Given the description of an element on the screen output the (x, y) to click on. 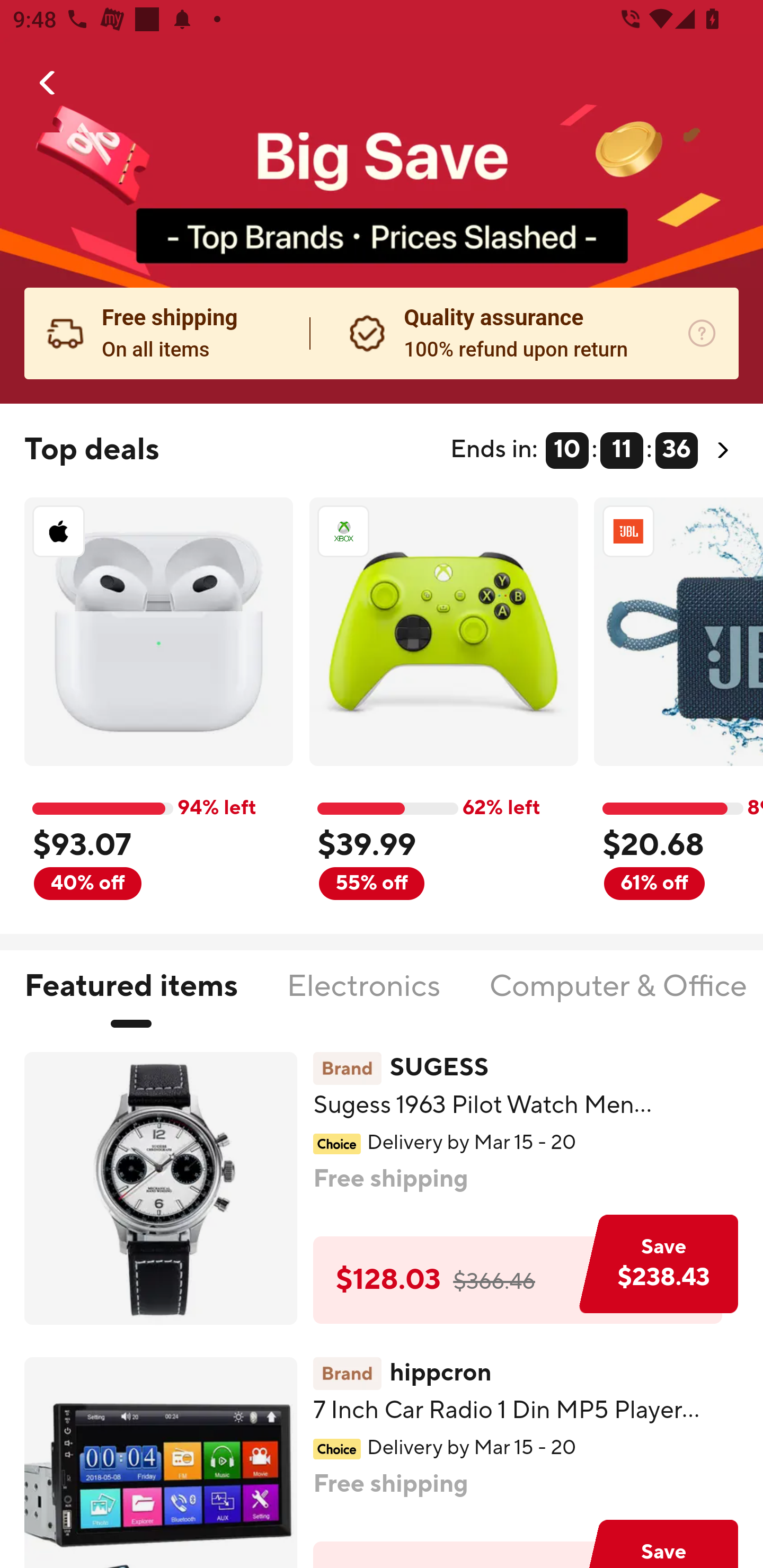
 (48, 82)
Featured items (130, 996)
Electronics (363, 996)
Computer & Office (617, 996)
